Given the description of an element on the screen output the (x, y) to click on. 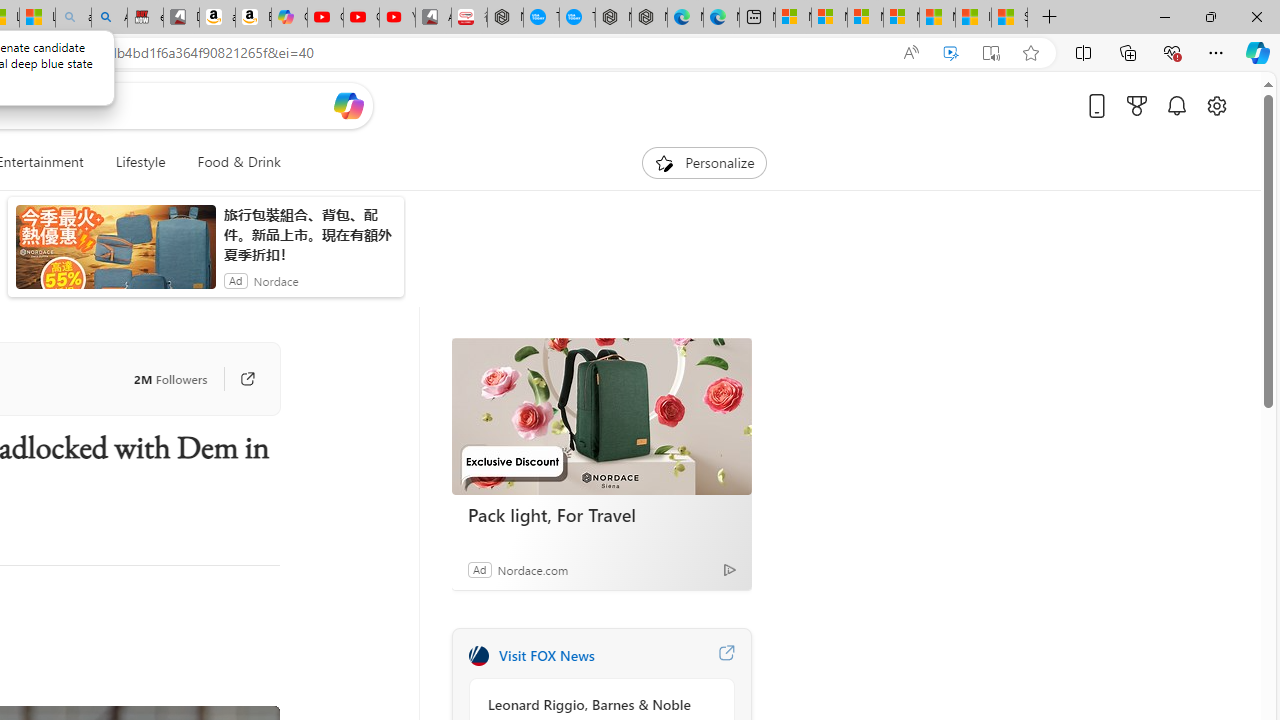
anim-content (115, 255)
Enter Immersive Reader (F9) (991, 53)
Nordace.com (532, 569)
Food & Drink (239, 162)
Enhance video (950, 53)
YouTube Kids - An App Created for Kids to Explore Content (397, 17)
Lifestyle (139, 162)
